Given the description of an element on the screen output the (x, y) to click on. 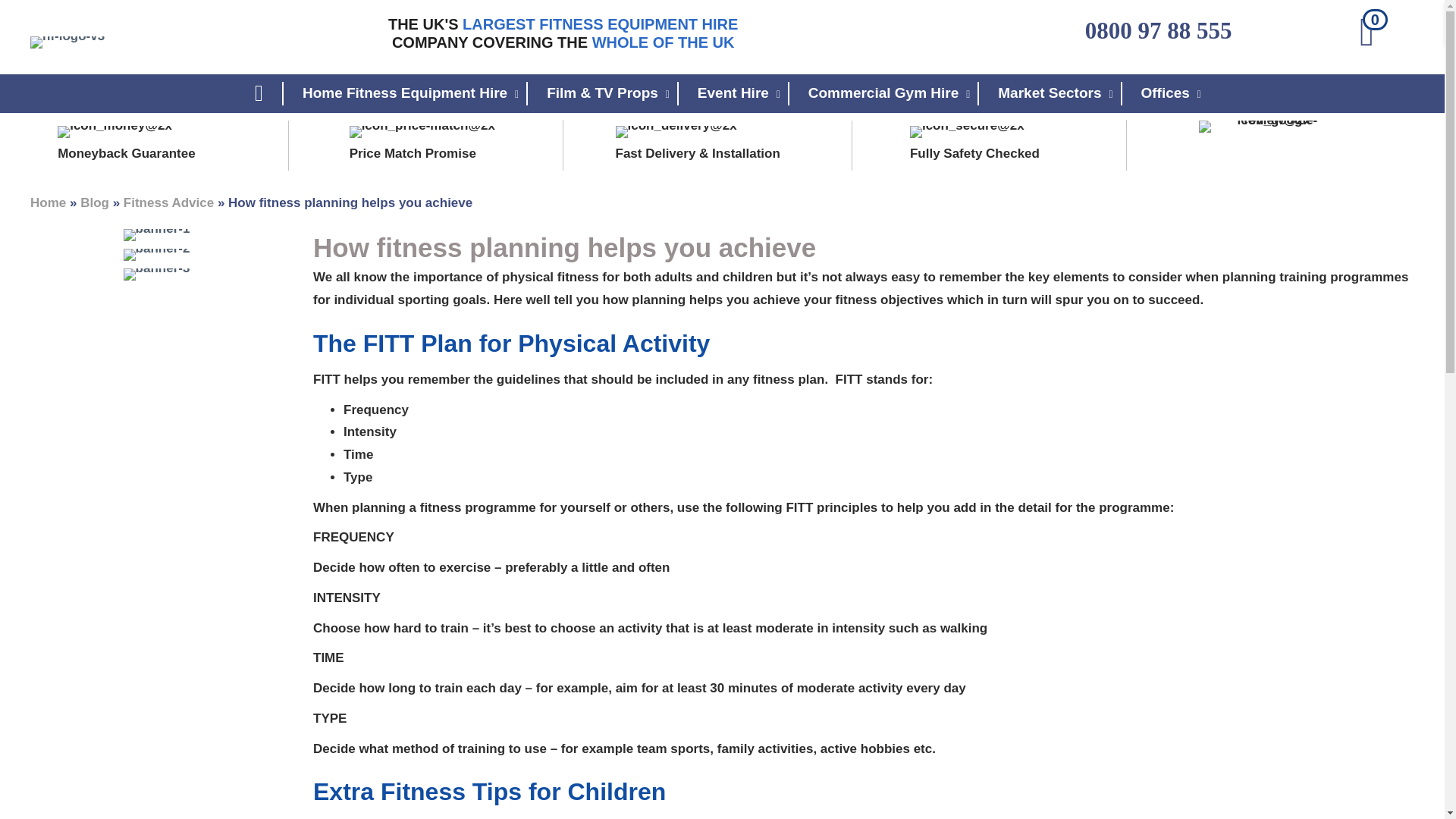
hf-logo-v3 (67, 42)
0800 97 88 555 (1157, 30)
View your shopping cart (1370, 34)
